Given the description of an element on the screen output the (x, y) to click on. 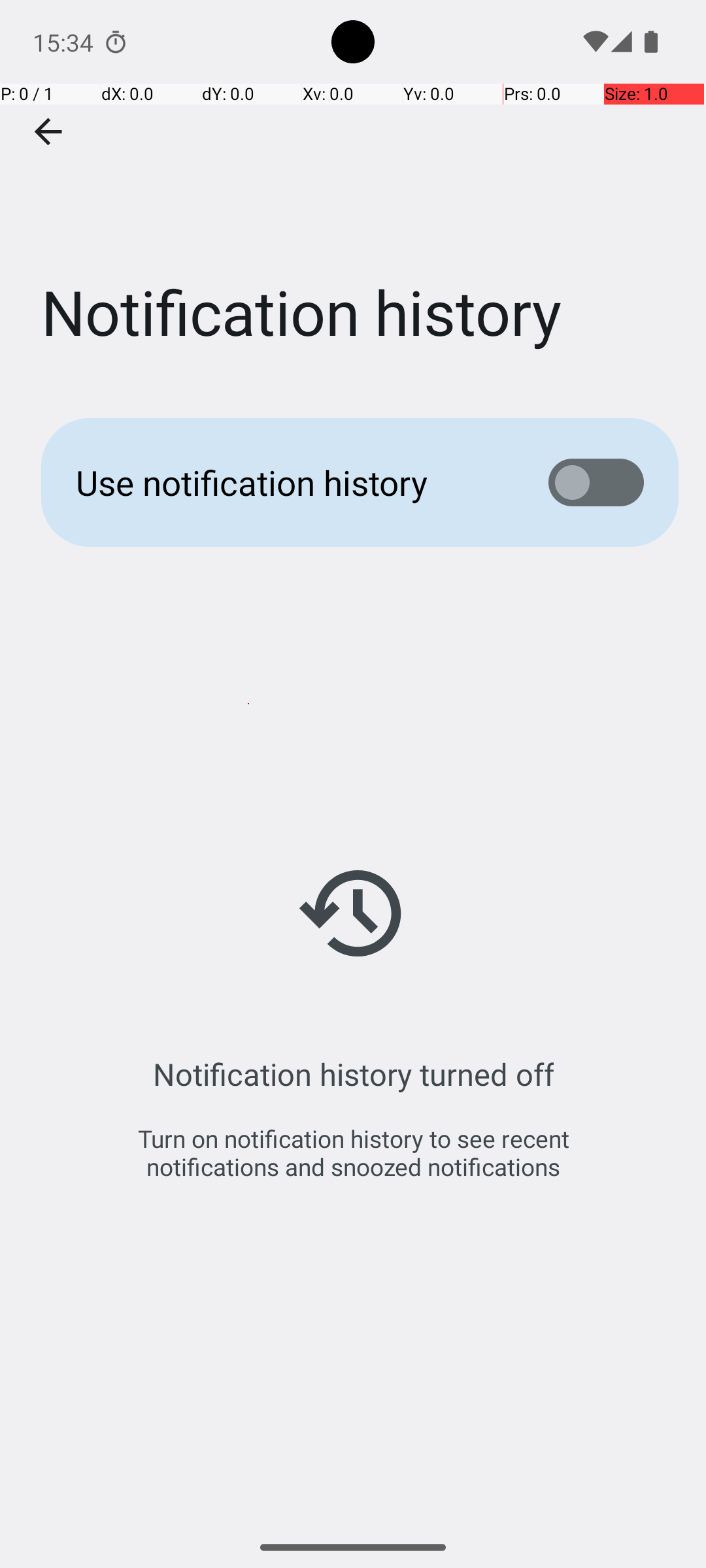
Notification history turned off Element type: android.widget.TextView (352, 1073)
Turn on notification history to see recent notifications and snoozed notifications Element type: android.widget.TextView (352, 1152)
